Given the description of an element on the screen output the (x, y) to click on. 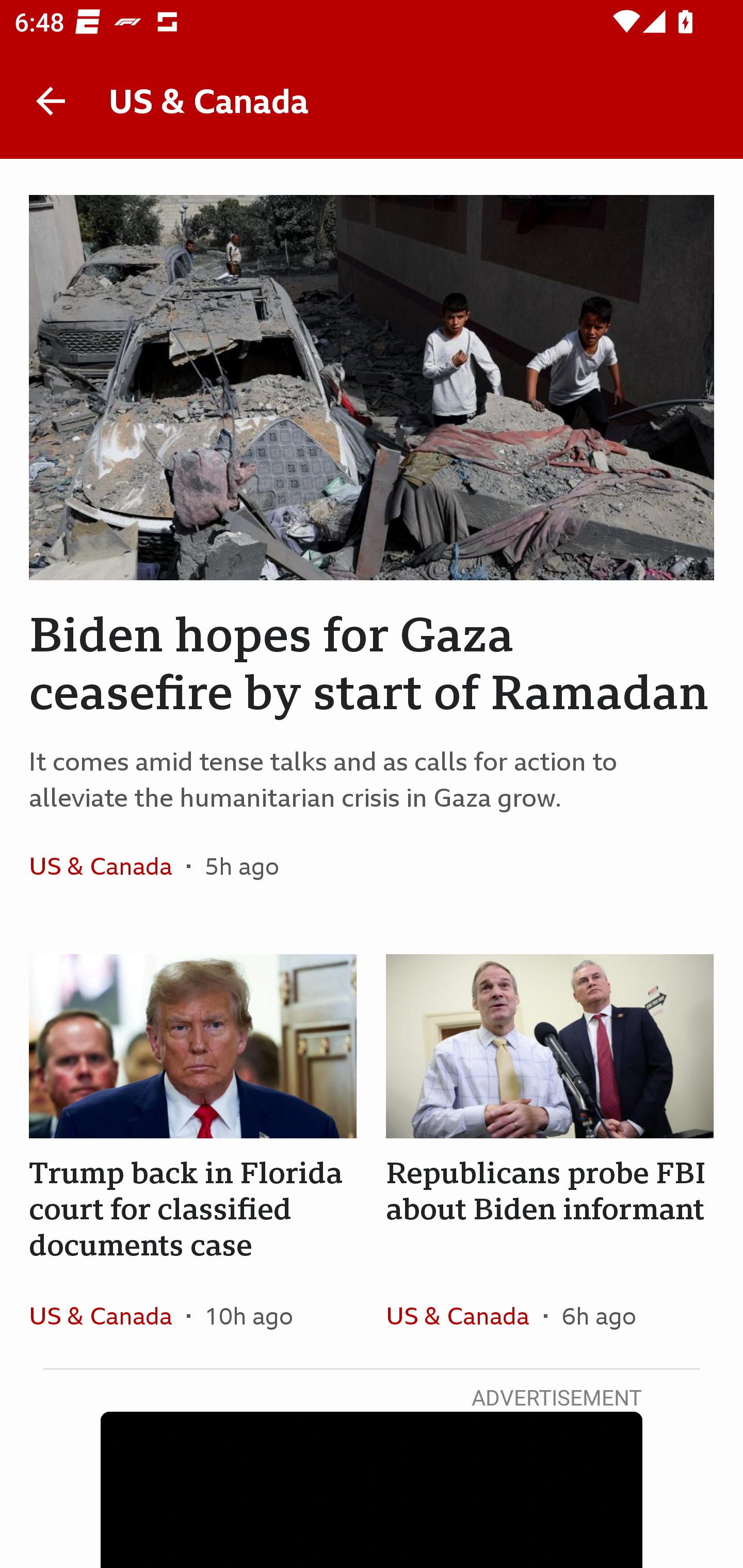
Back (50, 101)
US & Canada In the section US & Canada (107, 865)
US & Canada In the section US & Canada (107, 1315)
US & Canada In the section US & Canada (464, 1315)
